Given the description of an element on the screen output the (x, y) to click on. 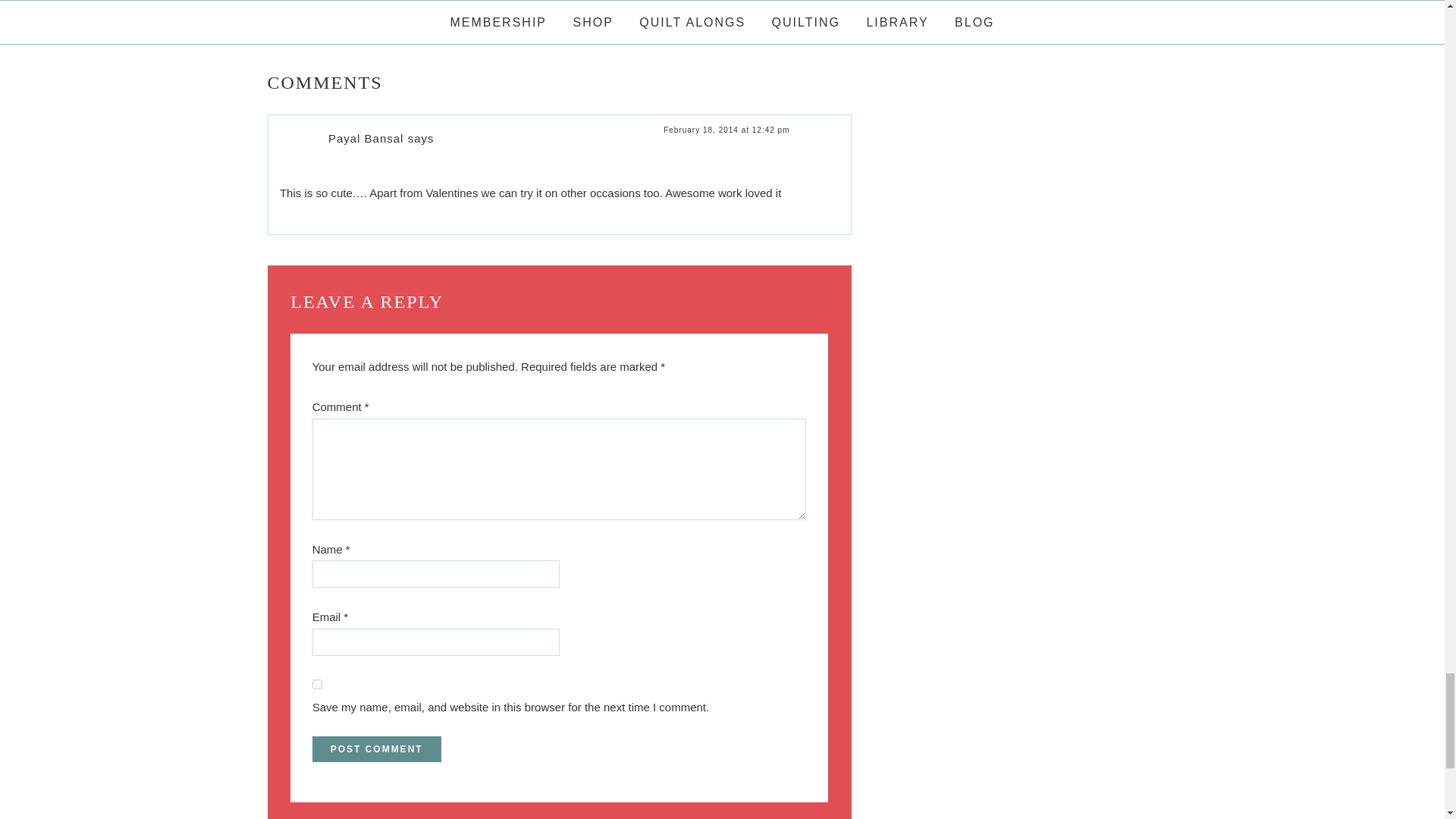
Post Comment (377, 749)
yes (317, 684)
